Given the description of an element on the screen output the (x, y) to click on. 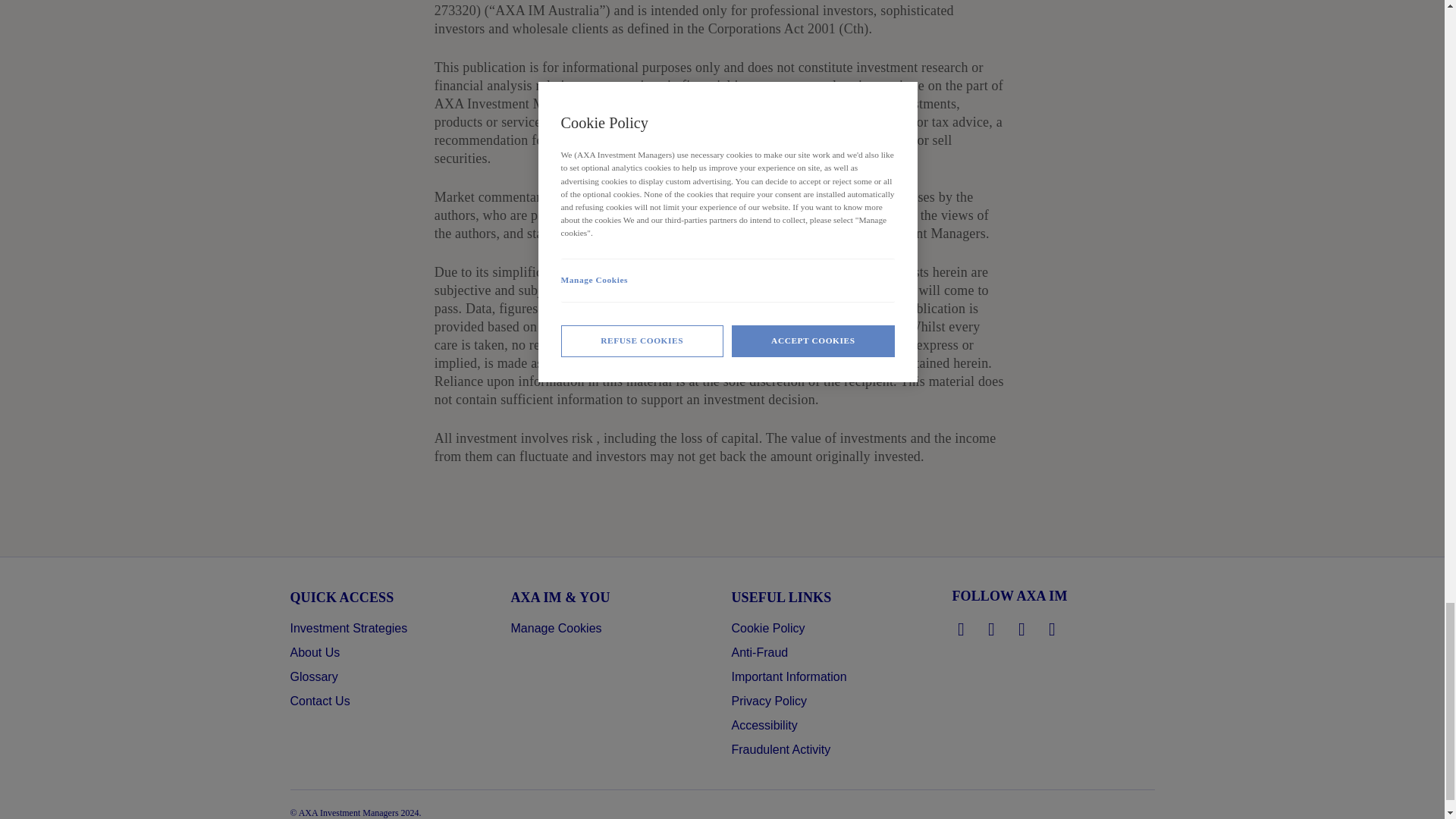
Follow us on Facebook (1021, 628)
Follow us on LinkedIn (961, 628)
Follow us on Twitter (991, 628)
Follow us on Youtube (1052, 628)
